Given the description of an element on the screen output the (x, y) to click on. 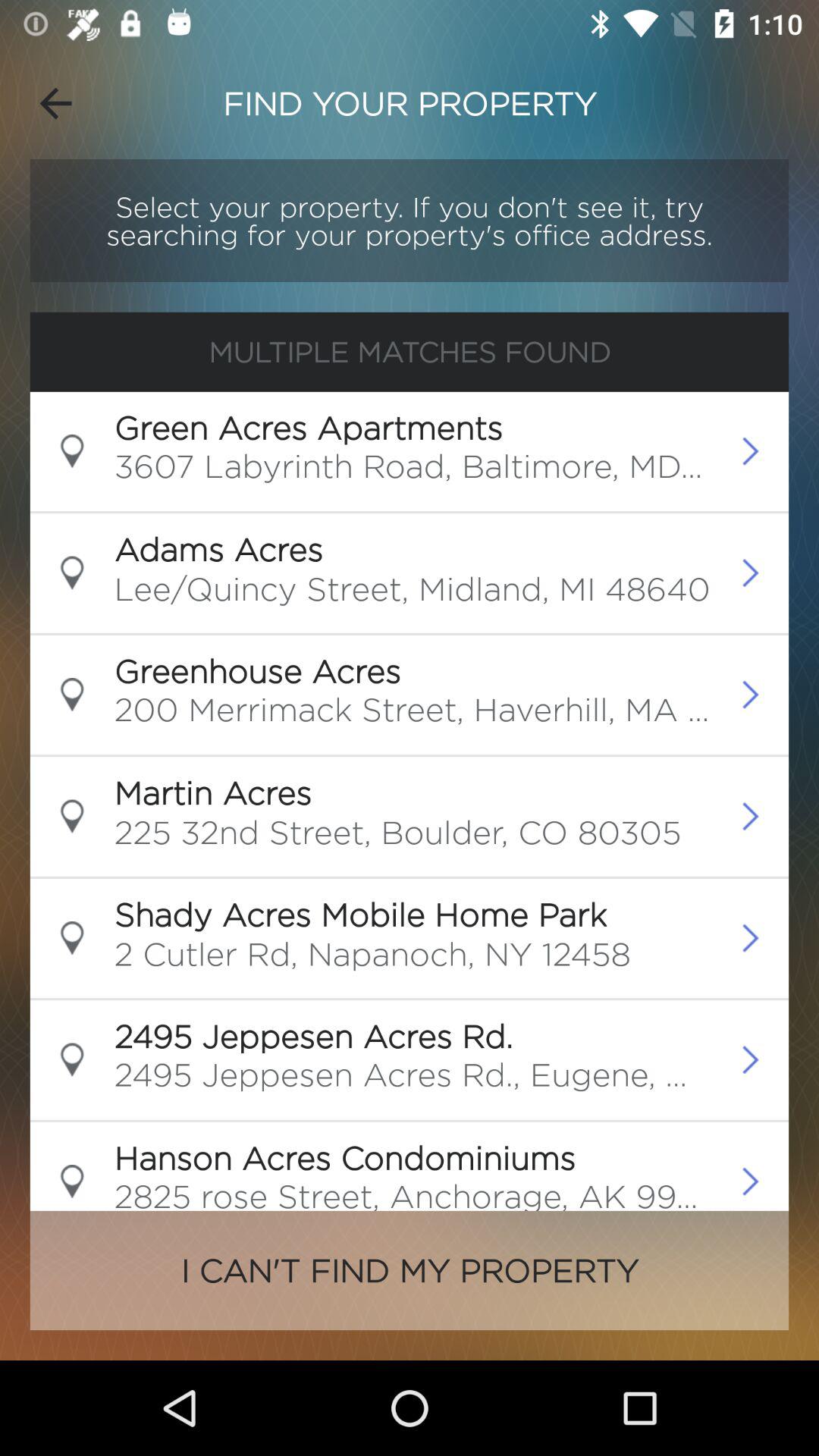
tap app above 225 32nd street icon (212, 792)
